Given the description of an element on the screen output the (x, y) to click on. 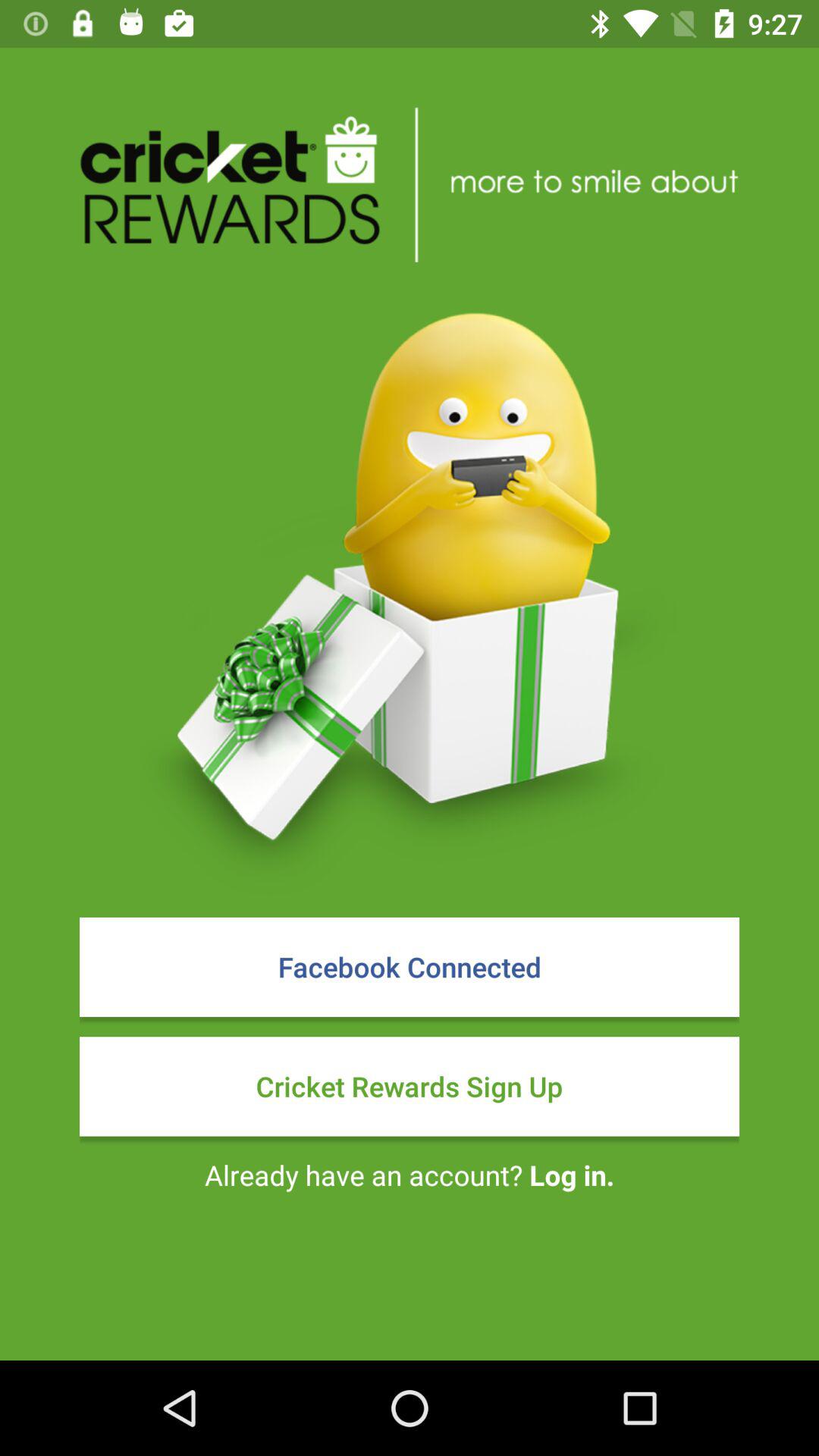
tap item above the cricket rewards sign icon (409, 966)
